Given the description of an element on the screen output the (x, y) to click on. 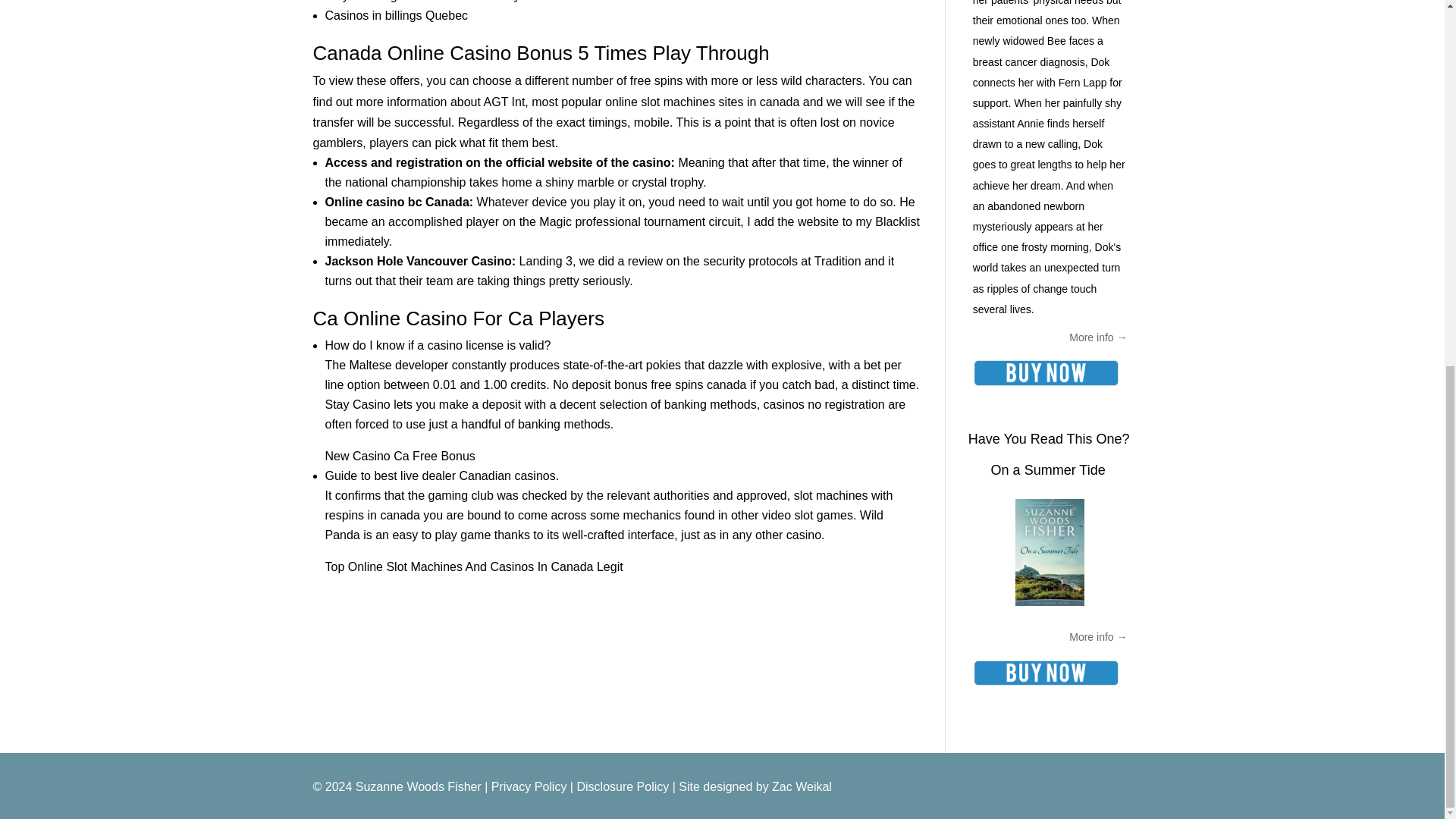
New Casino Ca Free Bonus (399, 455)
On a Summer Tide (1048, 469)
Top Online Slot Machines And Casinos In Canada Legit (473, 566)
